Given the description of an element on the screen output the (x, y) to click on. 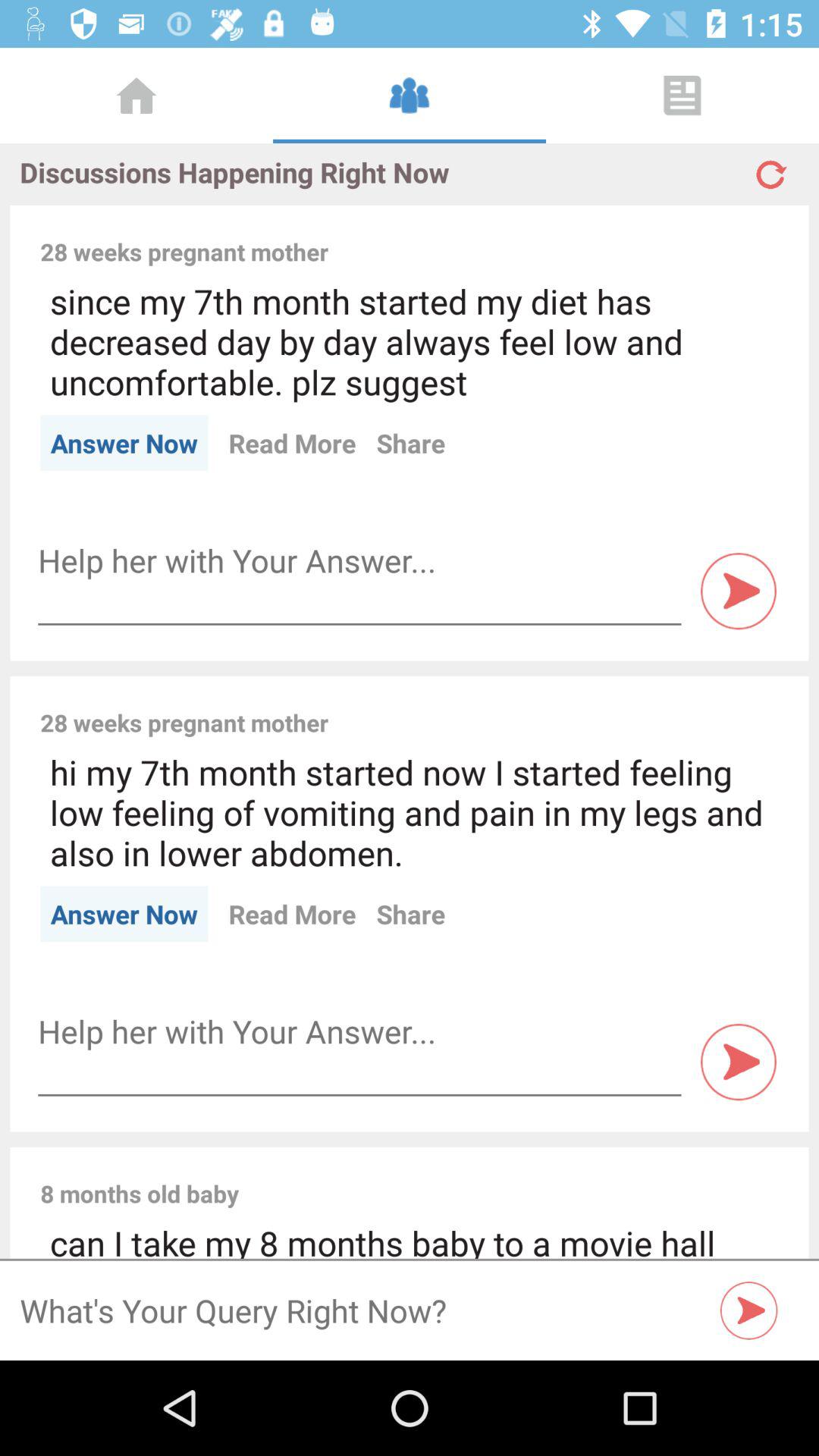
turn on the icon below discussions happening right (563, 235)
